Given the description of an element on the screen output the (x, y) to click on. 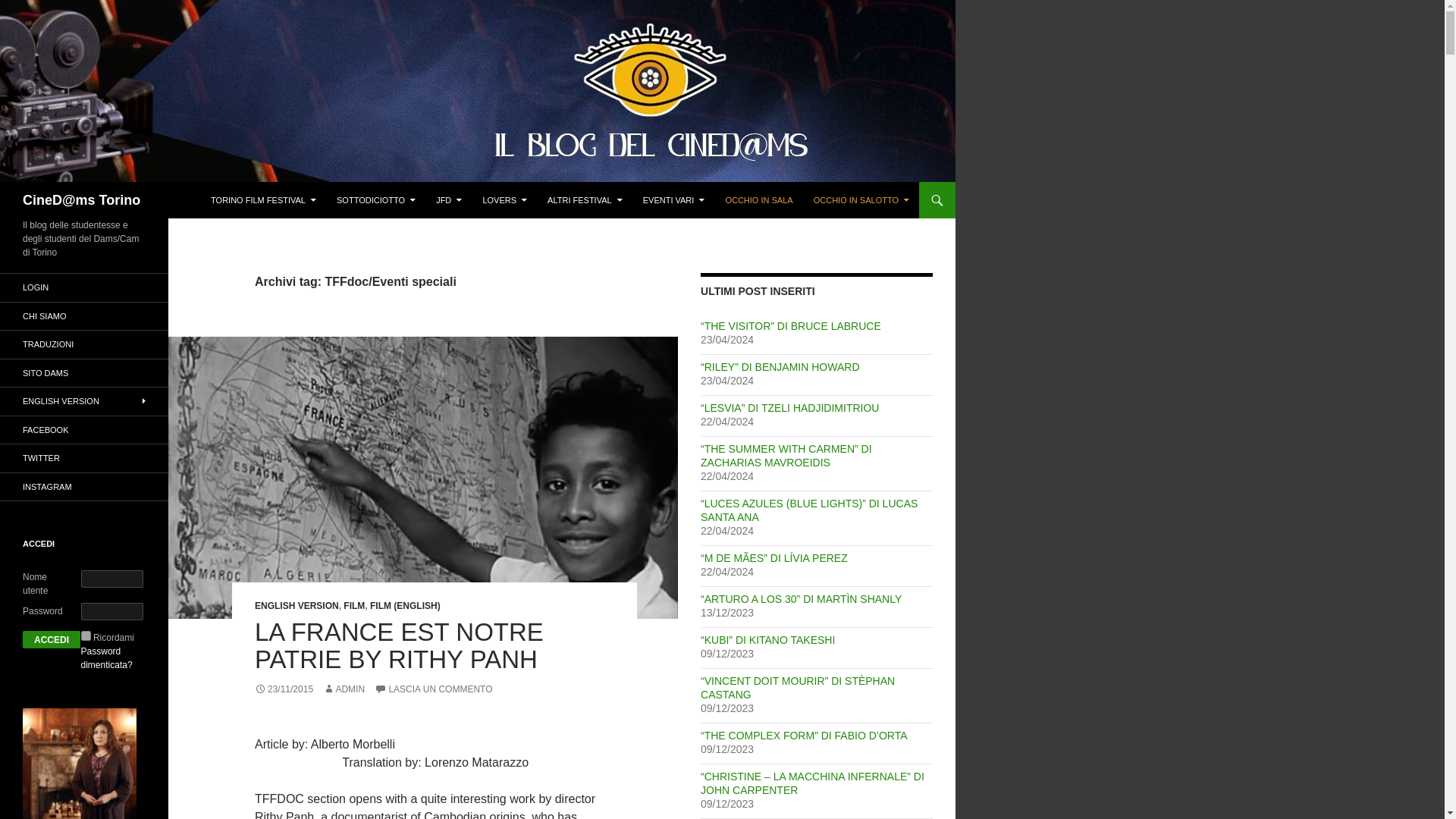
Accedi (51, 639)
Password persa e ritrovata (106, 658)
JFD (448, 199)
LOVERS (504, 199)
forever (85, 635)
TORINO FILM FESTIVAL (263, 199)
SOTTODICIOTTO (376, 199)
Job Film Days (448, 199)
